Given the description of an element on the screen output the (x, y) to click on. 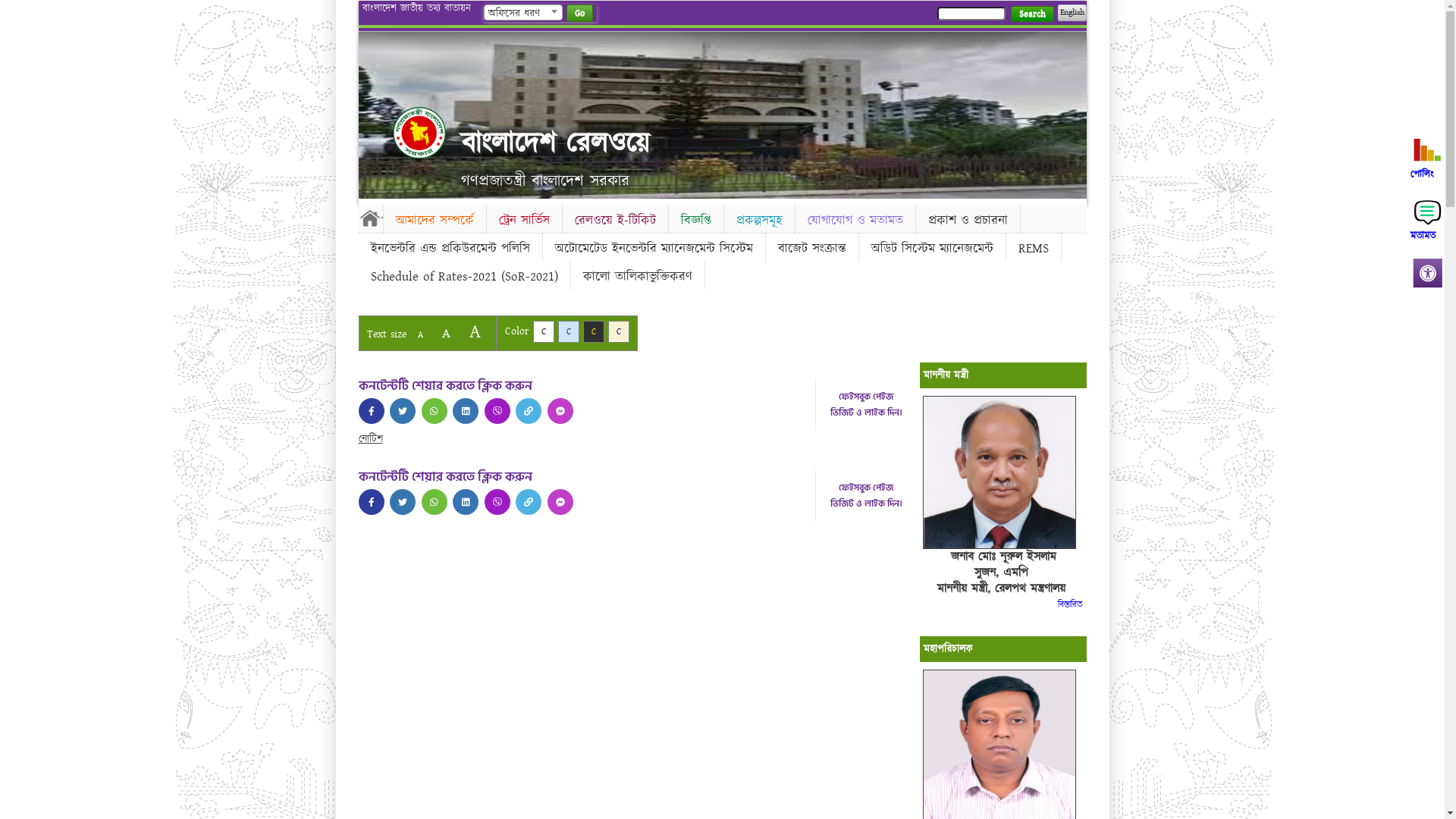
REMS Element type: text (1032, 248)
Search Element type: text (1031, 13)

    
     Element type: hover (465, 410)
Go Element type: text (578, 12)
A Element type: text (474, 331)
Next Element type: text (1071, 110)

					
				 Element type: hover (418, 132)
Schedule of Rates-2021 (SoR-2021) Element type: text (463, 276)

    
     Element type: hover (465, 501)
C Element type: text (568, 331)
Previous Element type: text (371, 110)
C Element type: text (618, 331)
English Element type: text (1071, 12)
C Element type: text (592, 331)
A Element type: text (445, 333)
C Element type: text (542, 331)
A Element type: text (419, 334)
